Given the description of an element on the screen output the (x, y) to click on. 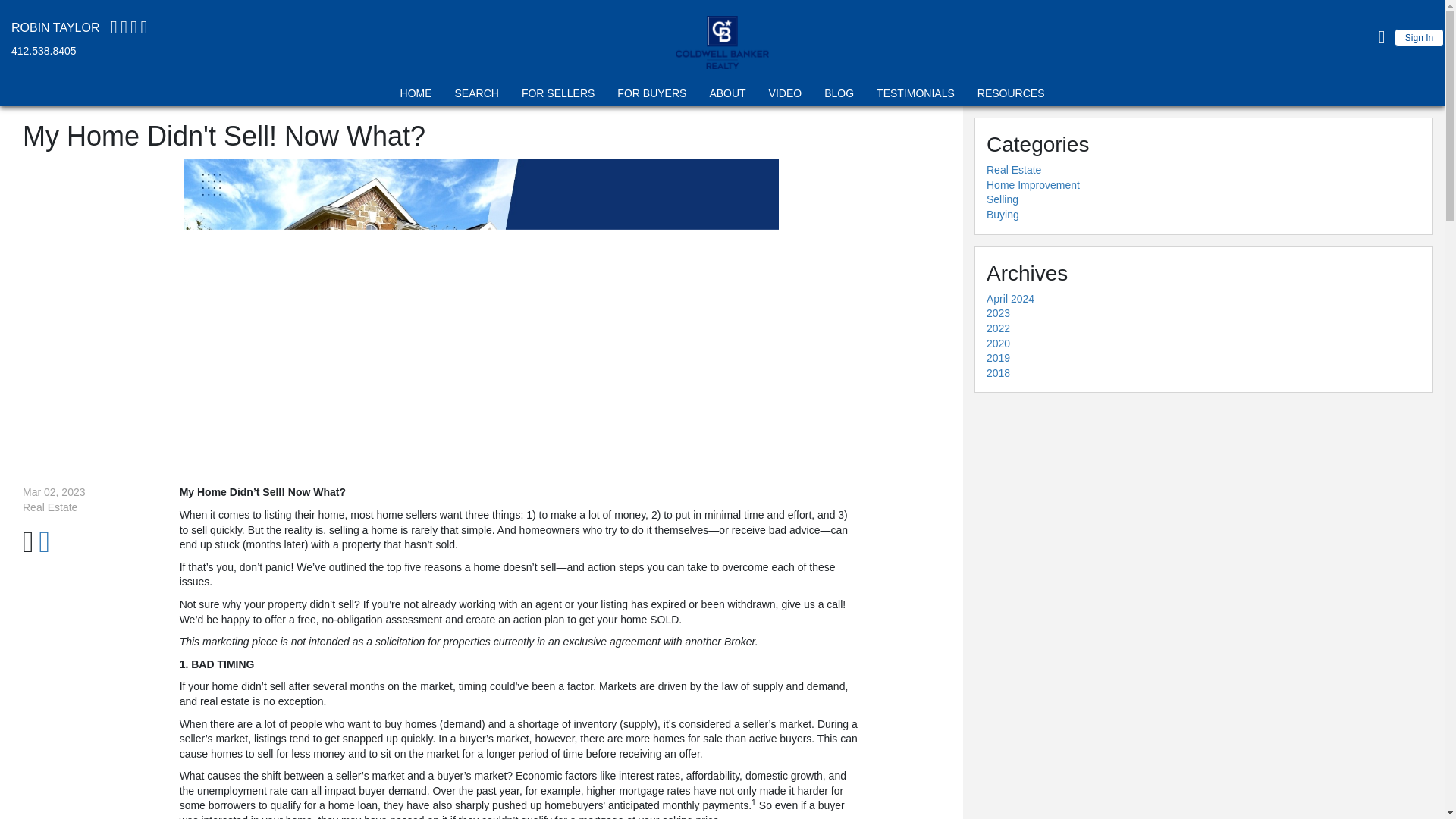
412.538.8405 (44, 50)
FOR BUYERS (651, 95)
TESTIMONIALS (915, 95)
Sign In (1419, 37)
VIDEO (785, 95)
HOME (415, 95)
RESOURCES (1011, 95)
ABOUT (726, 95)
BLOG (839, 95)
SEARCH (476, 95)
FOR SELLERS (558, 95)
